Given the description of an element on the screen output the (x, y) to click on. 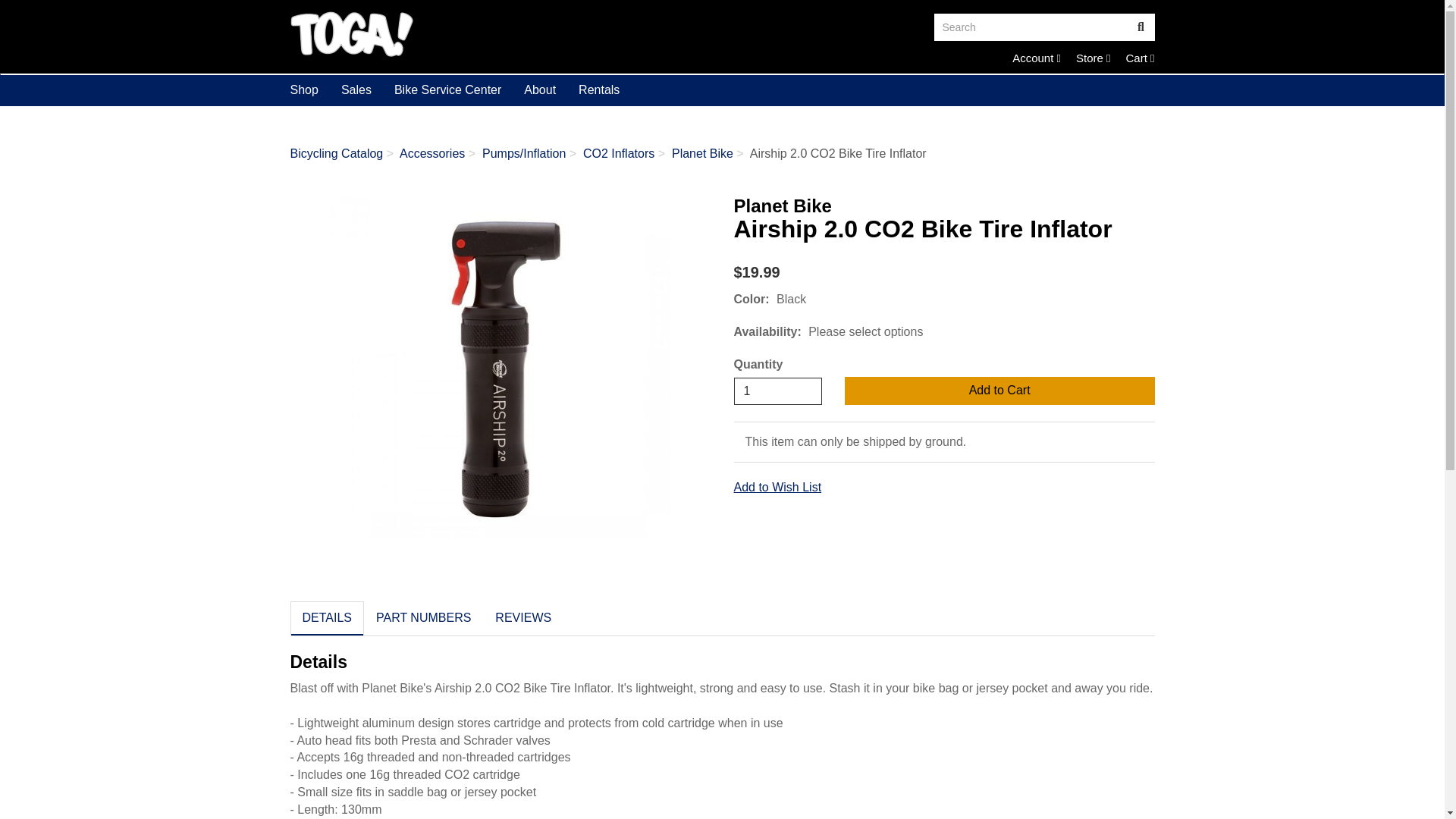
Store (1092, 57)
Toga Bike Shop Home Page (499, 33)
Shop (1036, 57)
Cart (304, 90)
1 (1139, 57)
Search (777, 390)
Account (1140, 26)
Search (1036, 57)
Planet Bike Airship 2.0 CO2 Bike Tire Inflator (1031, 26)
